Given the description of an element on the screen output the (x, y) to click on. 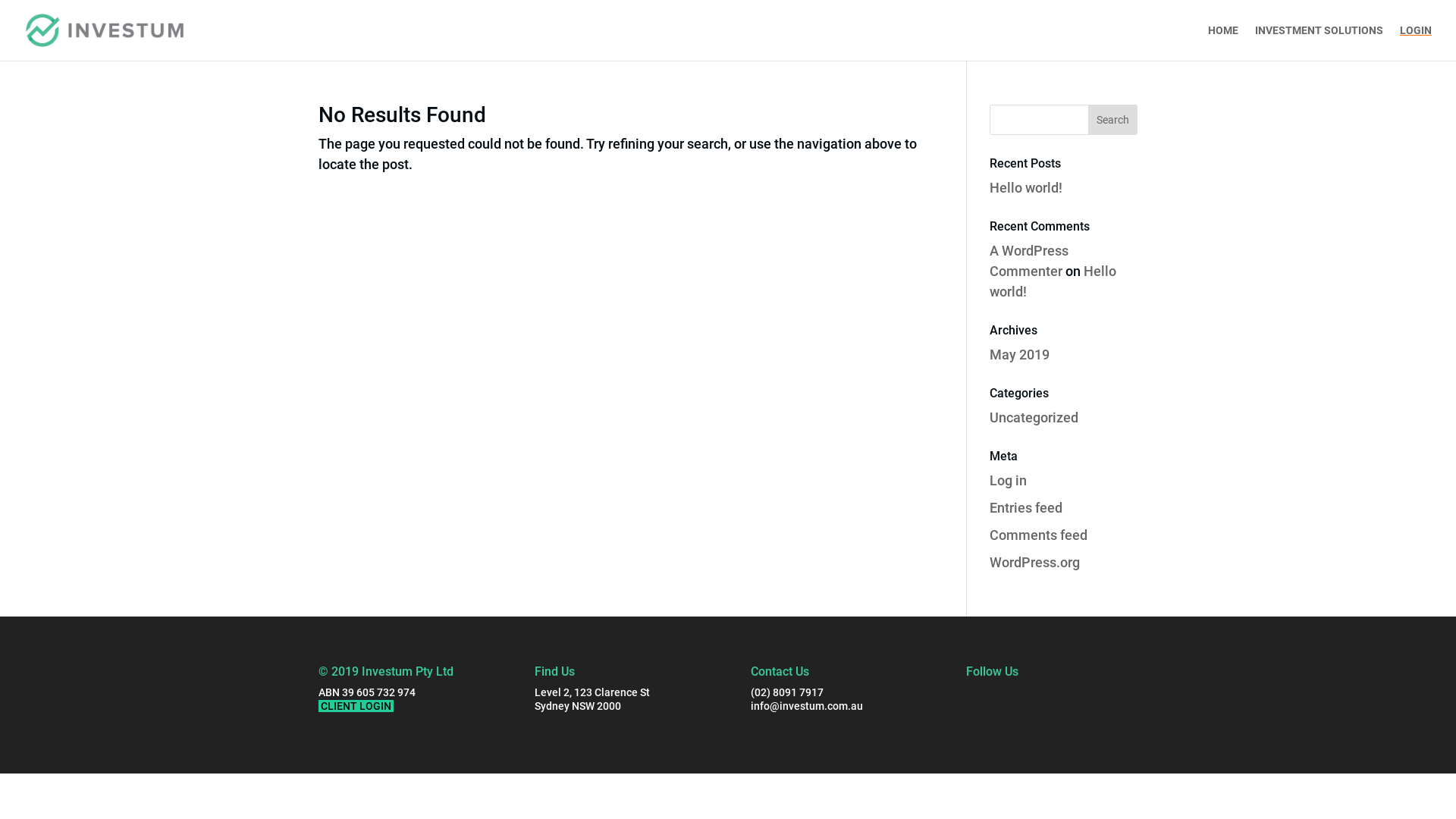
WordPress.org Element type: text (1034, 562)
Comments feed Element type: text (1038, 534)
A WordPress Commenter Element type: text (1028, 260)
HOME Element type: text (1223, 42)
Hello world! Element type: text (1052, 281)
LOGIN Element type: text (1415, 42)
Entries feed Element type: text (1025, 507)
info@investum.com.au Element type: text (806, 705)
Search Element type: text (1112, 119)
INVESTMENT SOLUTIONS Element type: text (1319, 42)
 CLIENT LOGIN  Element type: text (355, 705)
Uncategorized Element type: text (1033, 417)
May 2019 Element type: text (1019, 354)
Log in Element type: text (1007, 480)
(02) 8091 7917 Element type: text (786, 692)
Hello world! Element type: text (1025, 187)
